Given the description of an element on the screen output the (x, y) to click on. 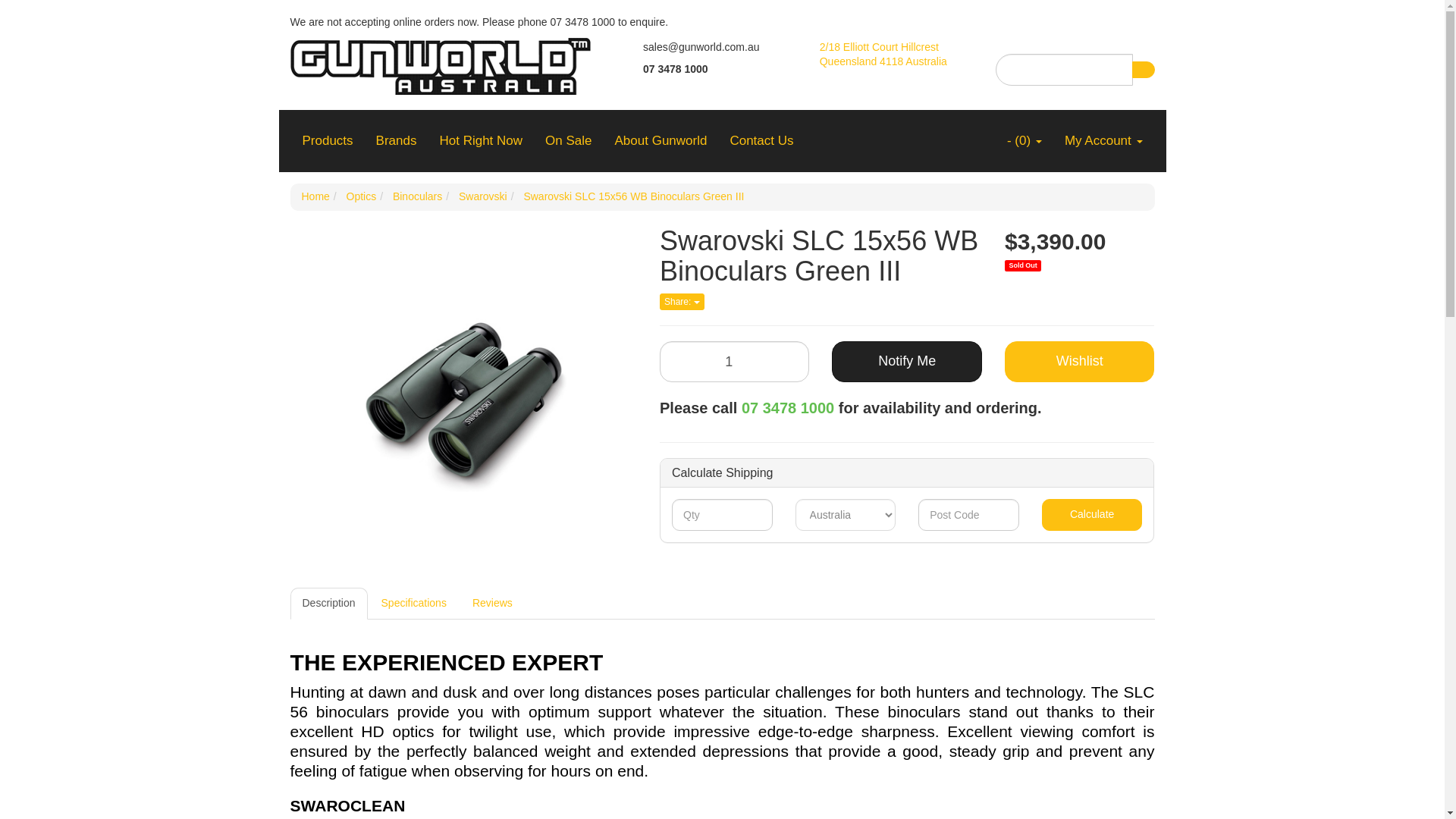
1 (734, 361)
GUN WORLD AUSTRALIA (440, 61)
Binoculars (417, 196)
Add To Wishlist (1079, 361)
Optics (361, 196)
Products (328, 140)
Swarovski (482, 196)
Search (1142, 69)
Share: (681, 301)
My Account (1103, 140)
Home (315, 196)
Calculate (1092, 514)
Brands (396, 140)
About Gunworld (661, 140)
Notify Me (906, 361)
